Given the description of an element on the screen output the (x, y) to click on. 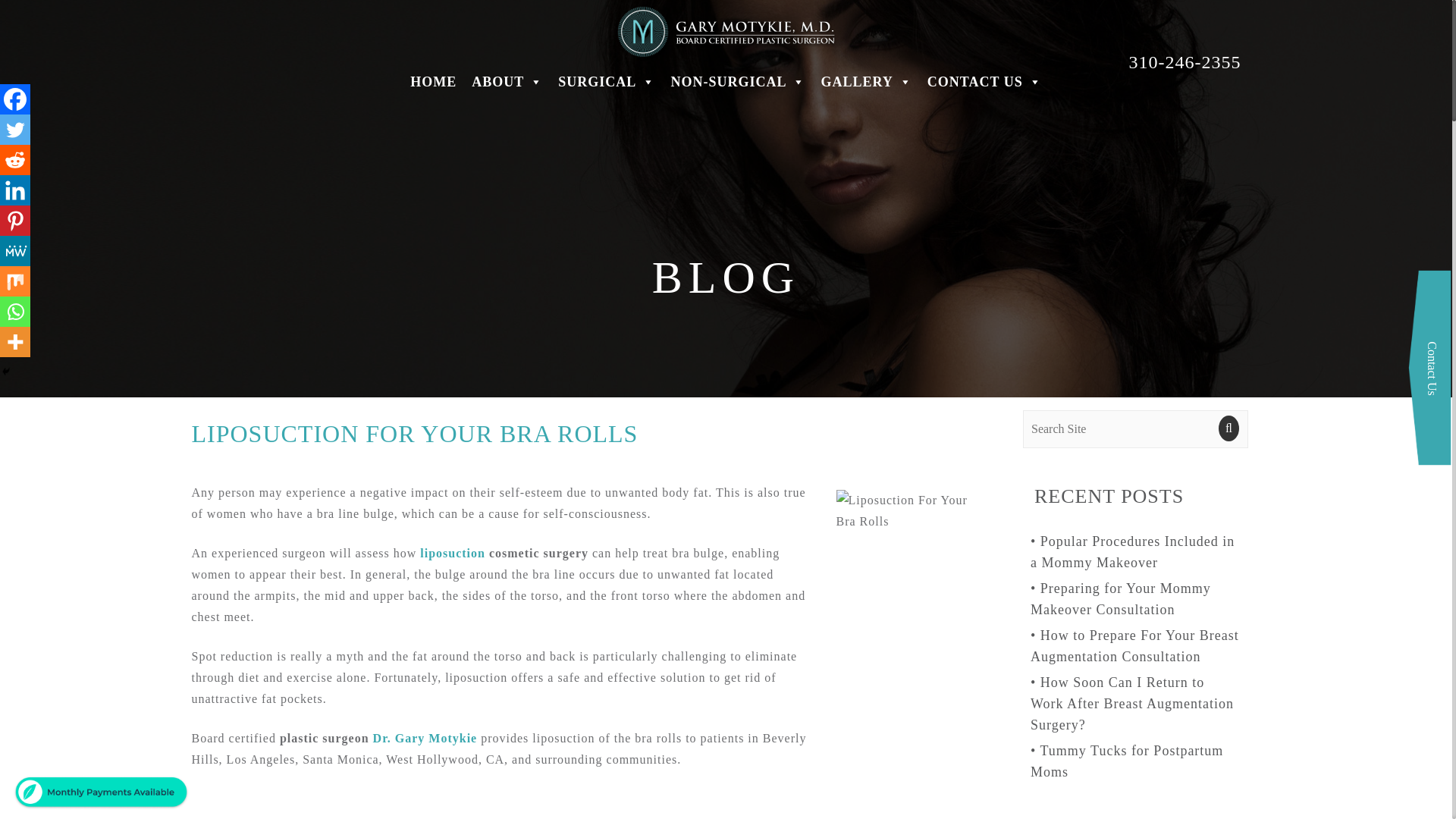
Linkedin (15, 190)
HOME (433, 81)
ABOUT (507, 81)
Reddit (15, 159)
Board Certified Plastic Surgeon Beverly Hills CA (724, 30)
Twitter (15, 129)
Facebook (15, 99)
SURGICAL (606, 81)
